Given the description of an element on the screen output the (x, y) to click on. 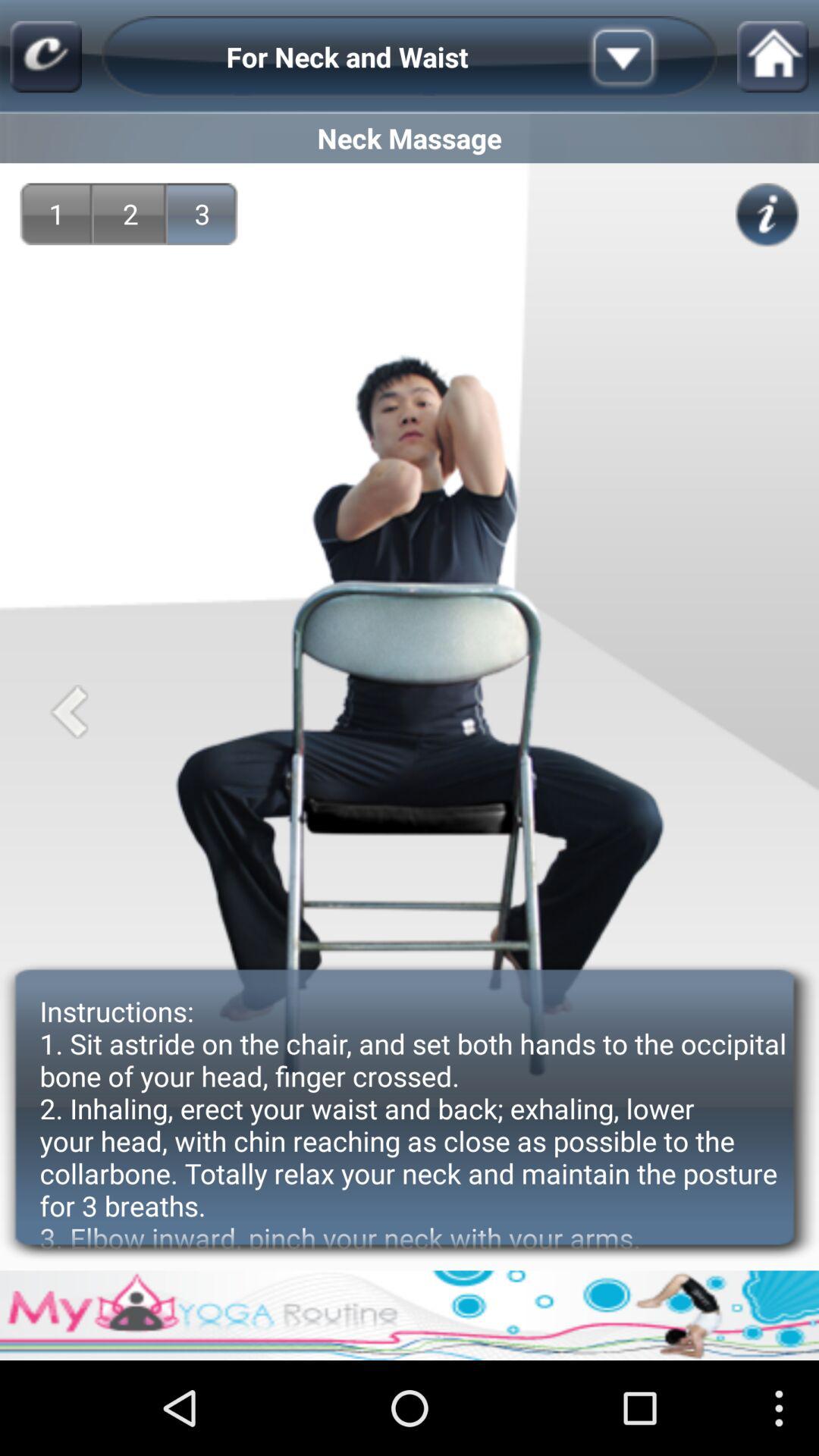
turn on the icon next to for neck and app (45, 56)
